Given the description of an element on the screen output the (x, y) to click on. 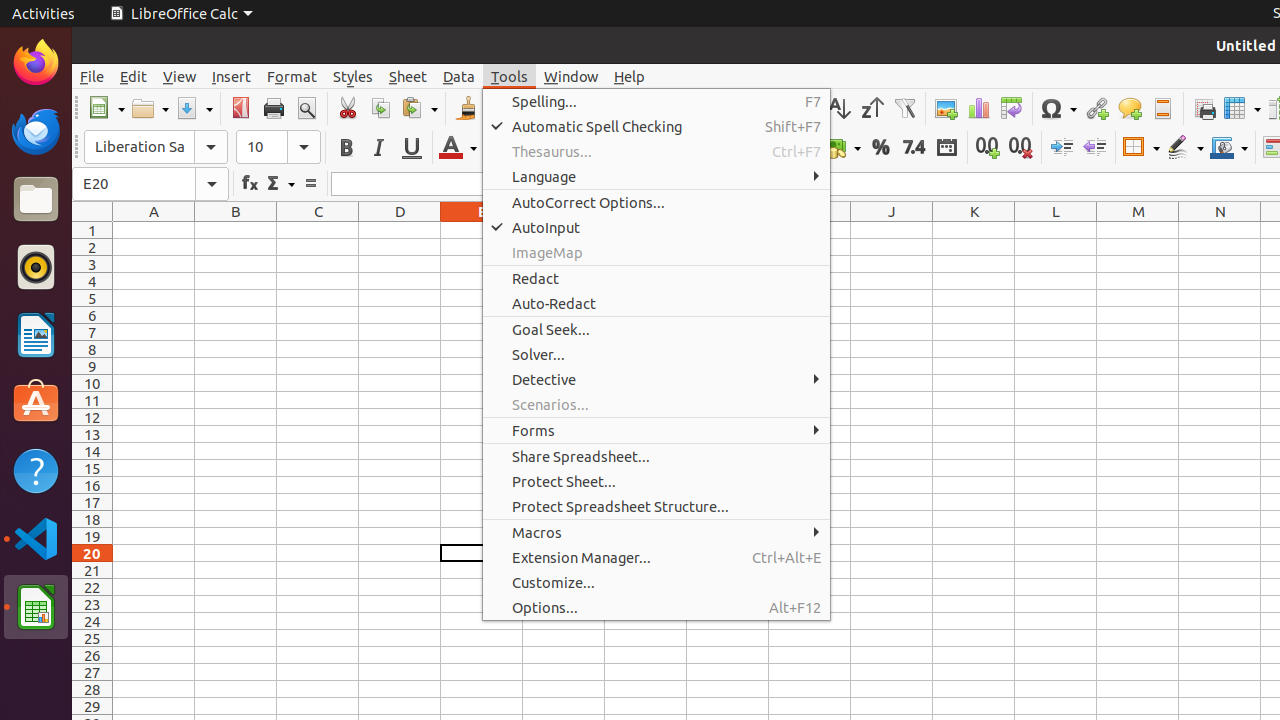
Date Element type: push-button (946, 147)
Scenarios... Element type: menu-item (656, 404)
I1 Element type: table-cell (810, 230)
Detective Element type: menu (656, 379)
Thunderbird Mail Element type: push-button (36, 131)
